Given the description of an element on the screen output the (x, y) to click on. 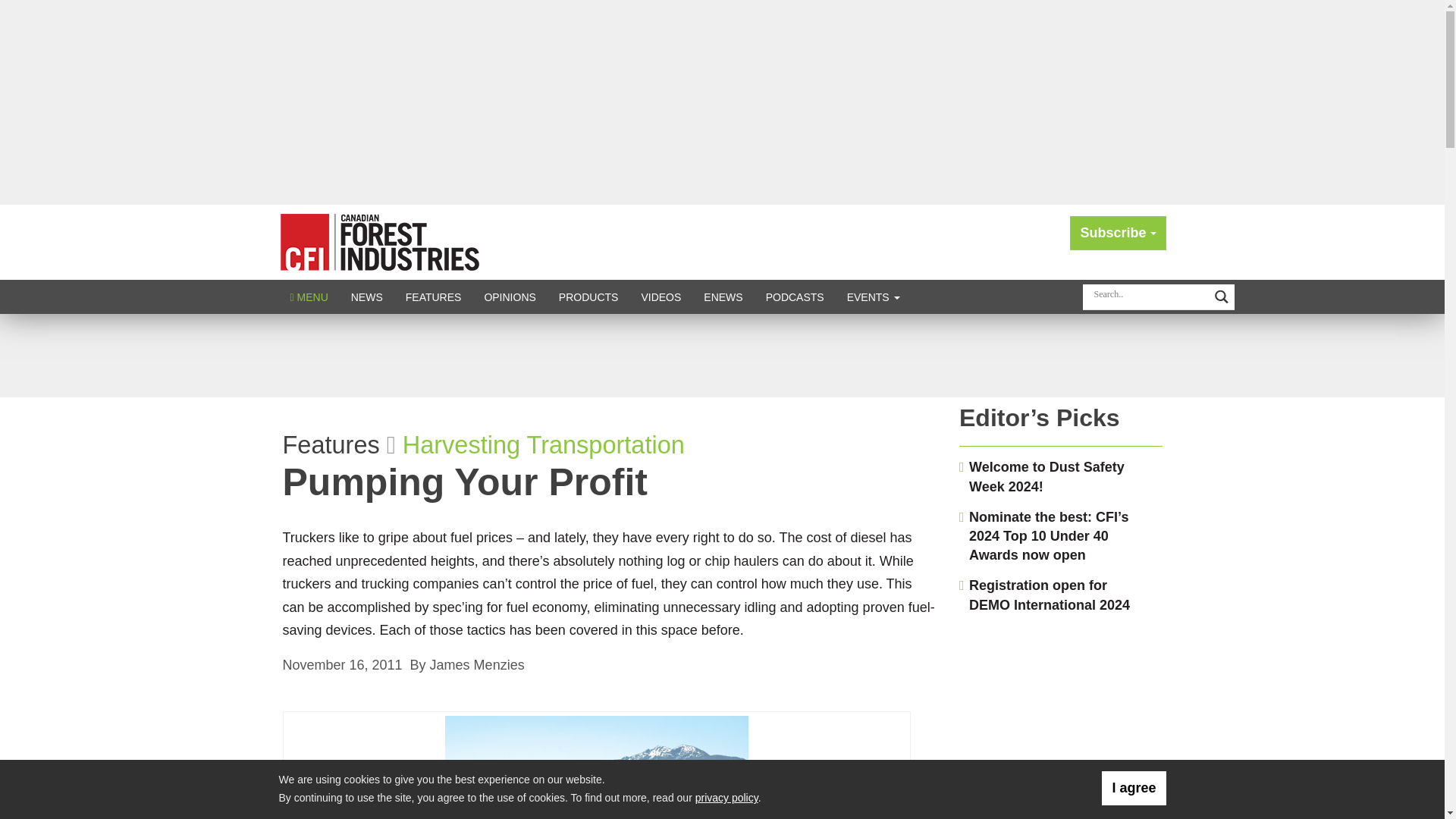
VIDEOS (660, 296)
PODCASTS (794, 296)
Wood Business (379, 240)
MENU (309, 296)
3rd party ad content (1060, 720)
EVENTS (873, 296)
NEWS (366, 296)
FEATURES (433, 296)
ENEWS (723, 296)
PRODUCTS (588, 296)
Subscribe (1118, 233)
OPINIONS (509, 296)
Click to show site navigation (309, 296)
3rd party ad content (721, 355)
